Given the description of an element on the screen output the (x, y) to click on. 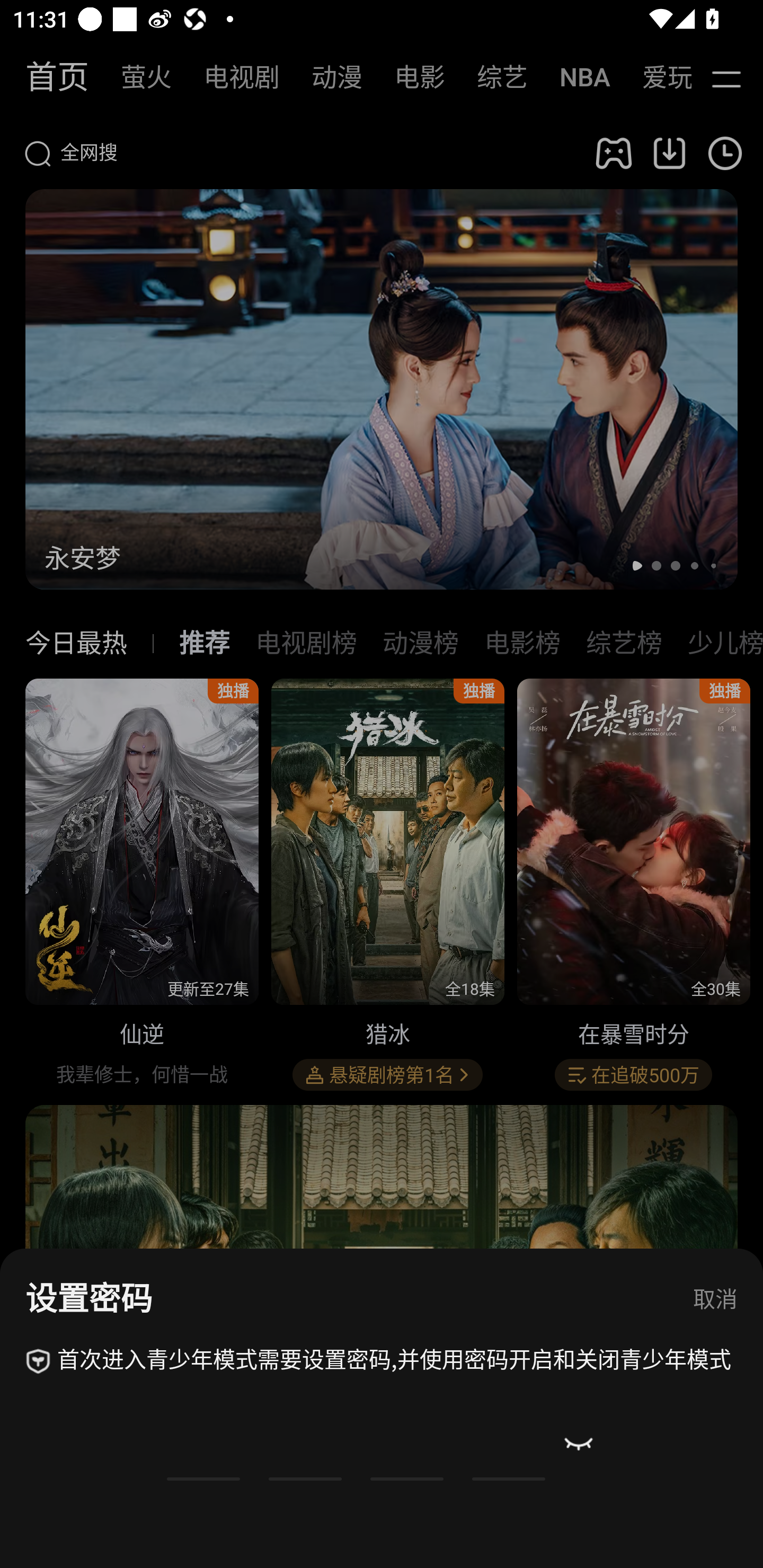
取消 (714, 1299)
